Given the description of an element on the screen output the (x, y) to click on. 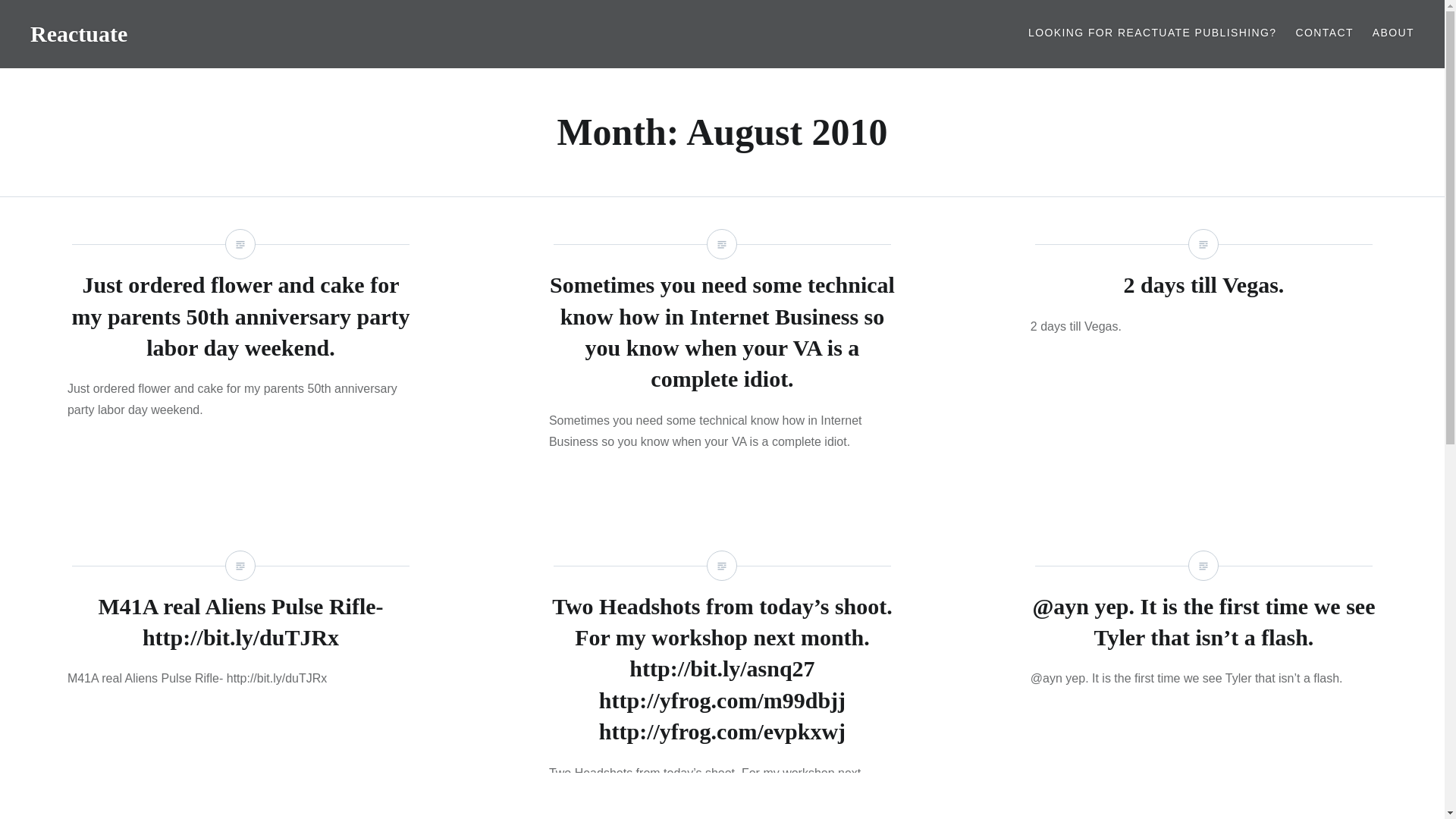
ABOUT (1393, 32)
Search (578, 19)
Reactuate (79, 33)
2 days till Vegas. (1204, 284)
LOOKING FOR REACTUATE PUBLISHING? (1151, 32)
CONTACT (1323, 32)
